Given the description of an element on the screen output the (x, y) to click on. 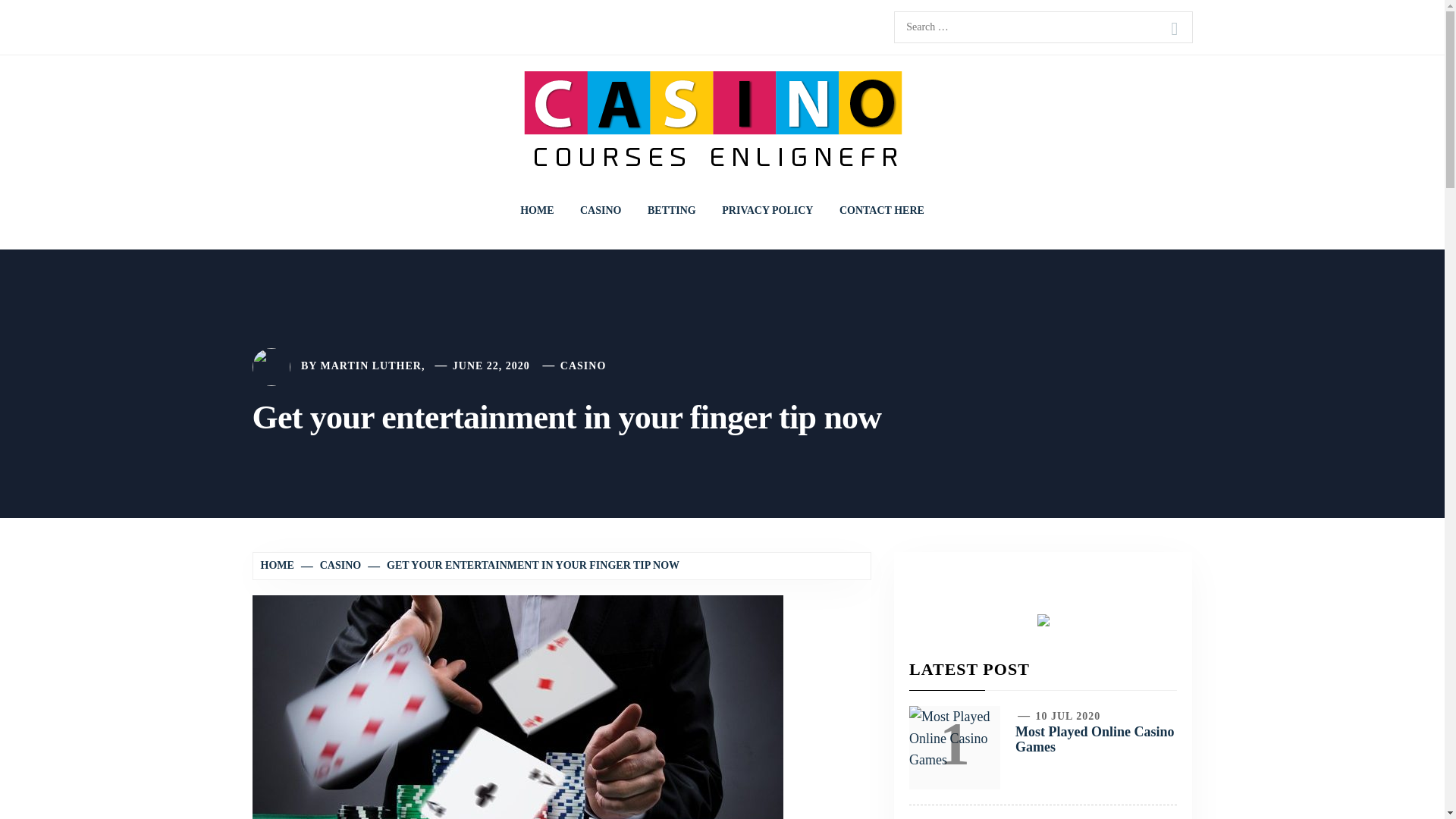
HOME (279, 564)
CASINO (582, 365)
Search (1174, 28)
JUNE 22, 2020 (490, 365)
PRIVACY POLICY (767, 210)
Most Played Online Casino Games (1094, 738)
MARTIN LUTHER, (372, 365)
CASINO (331, 564)
CONTACT HERE (882, 210)
Search (1174, 28)
BETTING (671, 210)
Search (1174, 28)
GET YOUR ENTERTAINMENT IN YOUR FINGER TIP NOW (524, 564)
CASINO (600, 210)
HOME (536, 210)
